Given the description of an element on the screen output the (x, y) to click on. 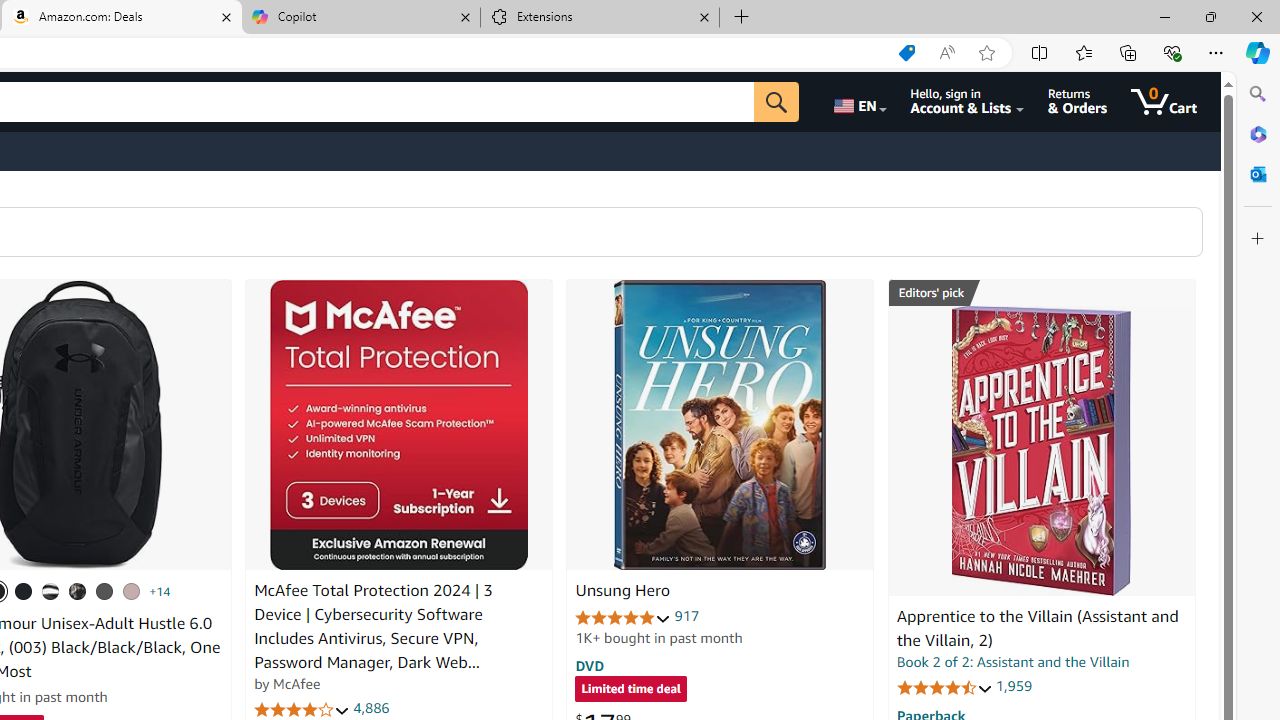
4.6 out of 5 stars (944, 686)
Close Outlook pane (1258, 174)
(004) Black / Black / Metallic Gold (78, 591)
4.9 out of 5 stars (623, 616)
Shopping in Microsoft Edge (906, 53)
Microsoft 365 (1258, 133)
(002) Black / Black / White (51, 591)
Unsung Hero (622, 591)
Search (1258, 94)
Returns & Orders (1077, 101)
